Given the description of an element on the screen output the (x, y) to click on. 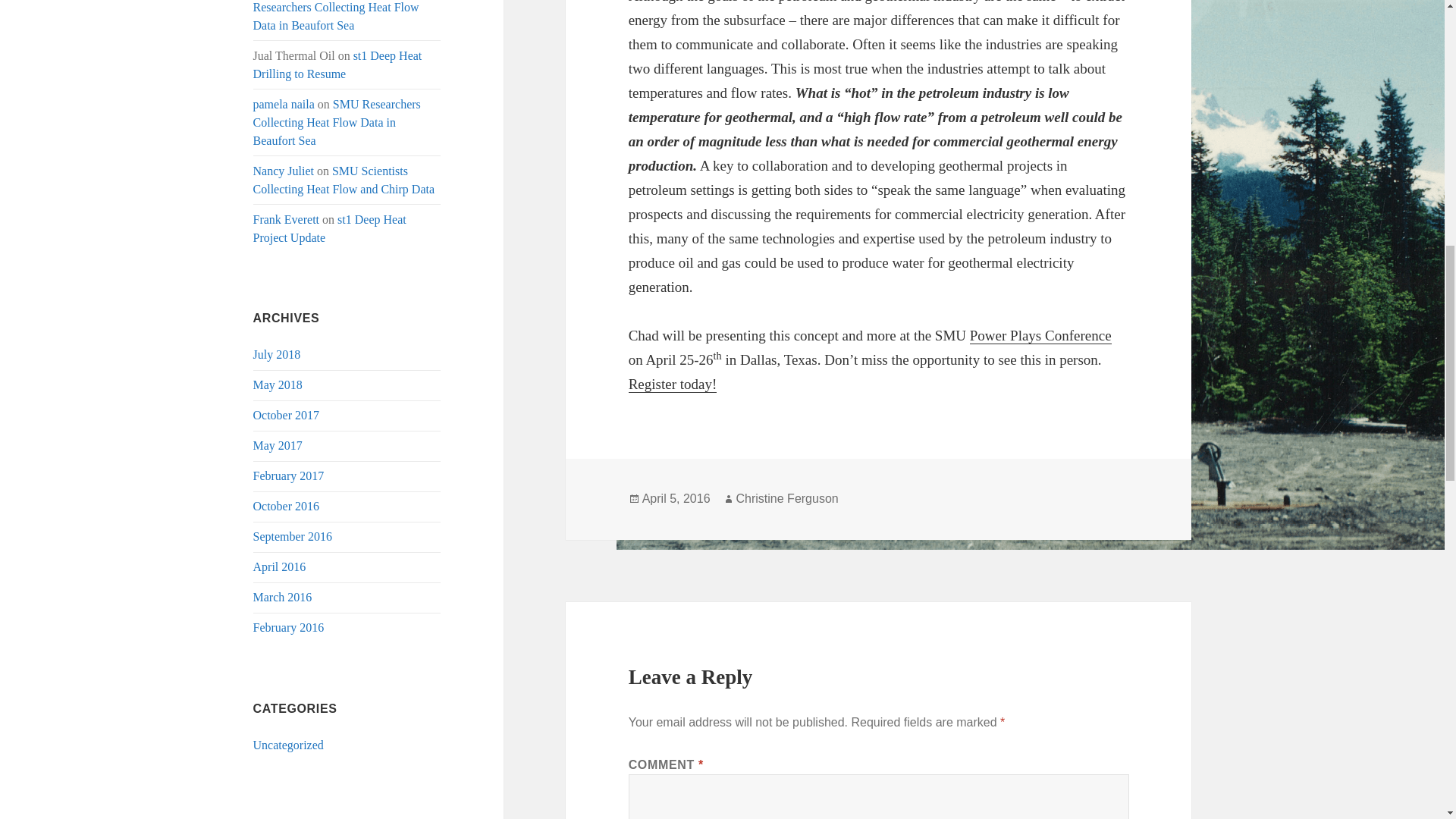
Frank Everett (286, 219)
pamela naila (283, 103)
SMU Scientists Collecting Heat Flow and Chirp Data (344, 179)
Register today! (672, 384)
Nancy Juliet (283, 170)
st1 Deep Heat Drilling to Resume (337, 64)
February 2017 (288, 475)
SMU Researchers Collecting Heat Flow Data in Beaufort Sea (336, 122)
October 2017 (286, 414)
September 2016 (292, 535)
Uncategorized (288, 744)
April 2016 (279, 566)
May 2018 (277, 384)
SMU Researchers Collecting Heat Flow Data in Beaufort Sea (336, 15)
February 2016 (288, 626)
